Given the description of an element on the screen output the (x, y) to click on. 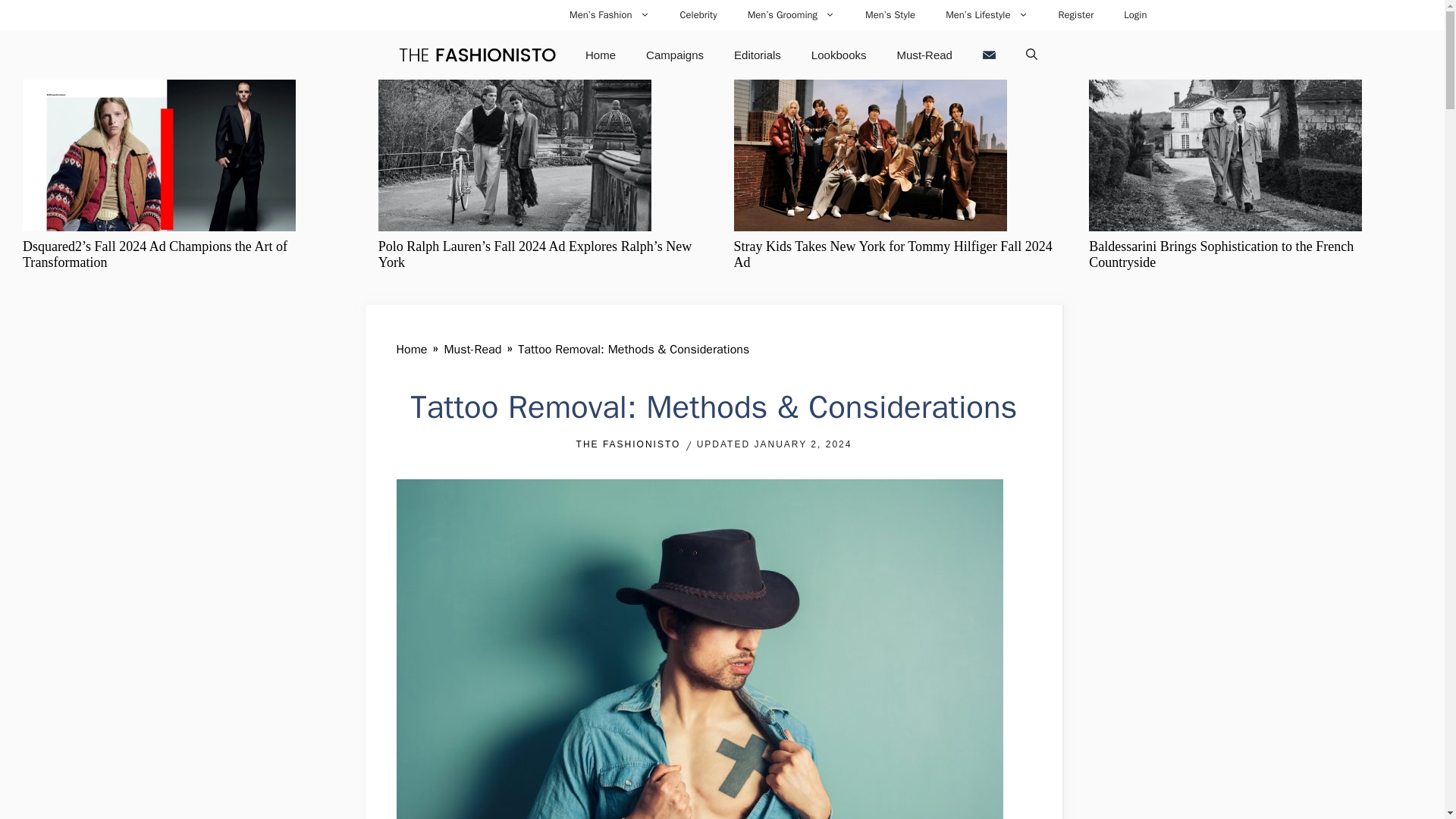
Login (1134, 15)
Home (411, 349)
Register (1076, 15)
Baldessarini Brings Sophistication to the French Countryside (1221, 254)
Stray Kids Takes New York for Tommy Hilfiger Fall 2024 Ad (892, 254)
Fashion Editorials (757, 53)
Lookbooks (839, 53)
Login (1134, 15)
Subscribe (989, 53)
Fashion Advertising Campaigns (674, 53)
